Given the description of an element on the screen output the (x, y) to click on. 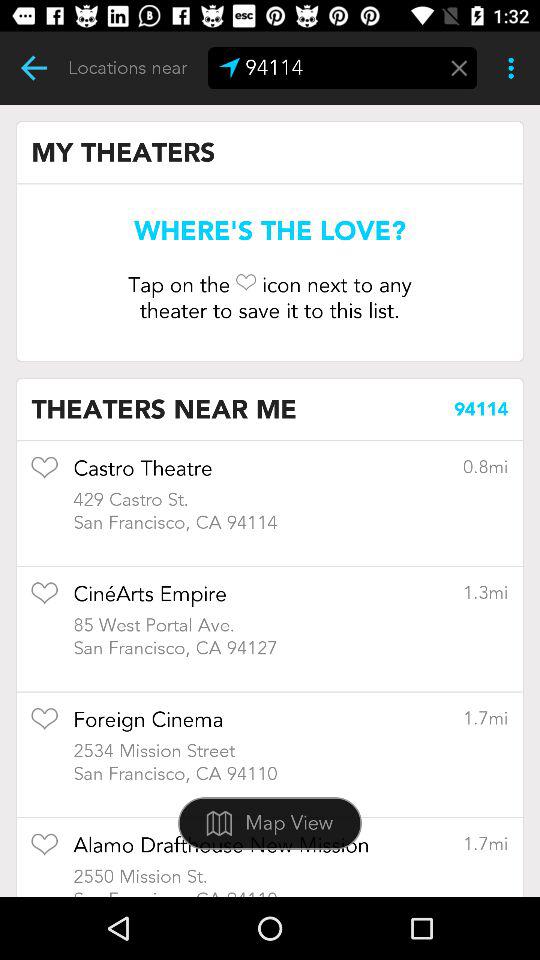
like foreign cinema theater (44, 725)
